Given the description of an element on the screen output the (x, y) to click on. 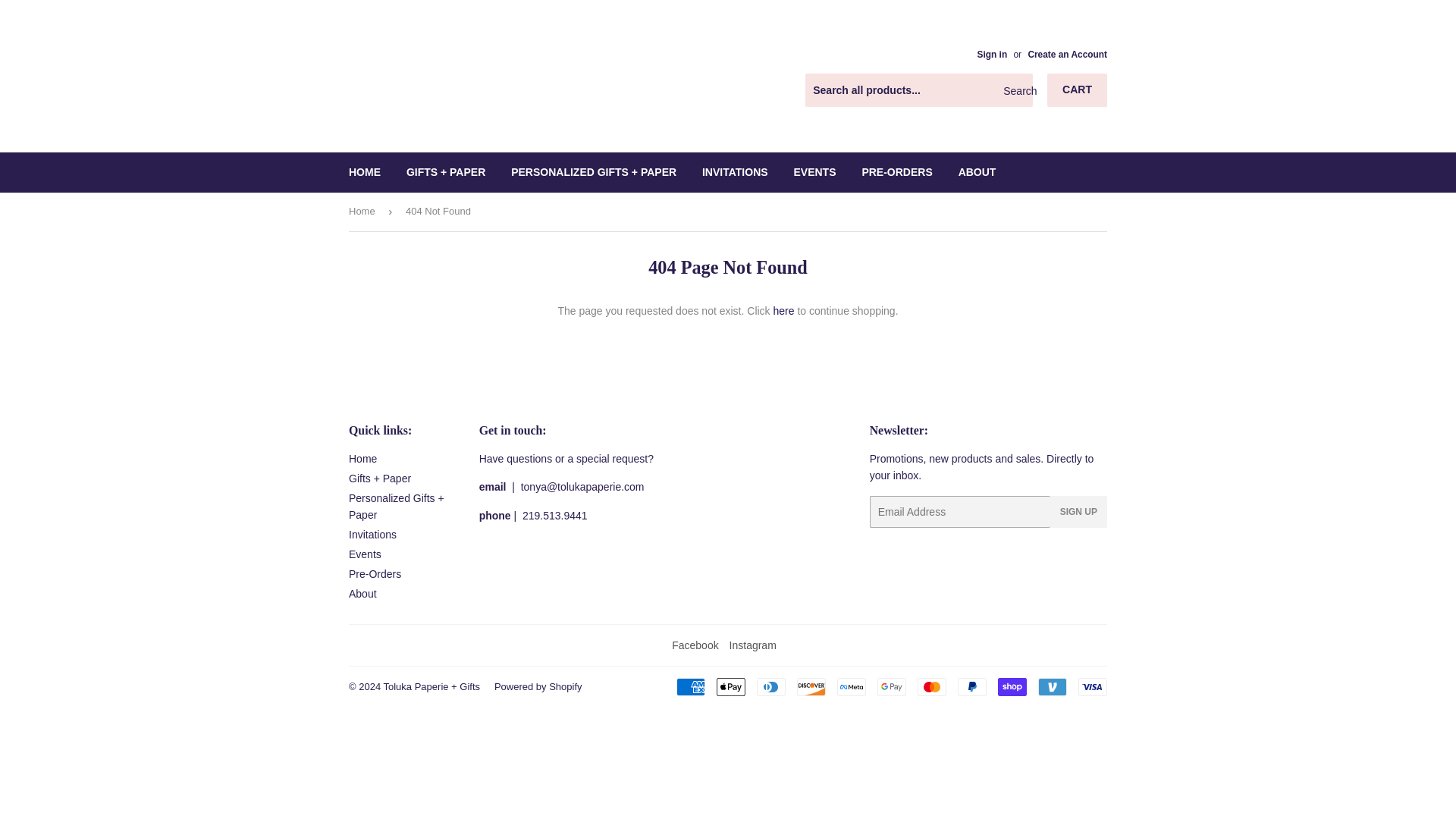
CART (1070, 90)
Discover (810, 687)
Visa (1092, 687)
American Express (690, 687)
Create an Account (1066, 54)
Apple Pay (730, 687)
Google Pay (891, 687)
Mastercard (931, 687)
Venmo (1052, 687)
Sign in (991, 54)
